Given the description of an element on the screen output the (x, y) to click on. 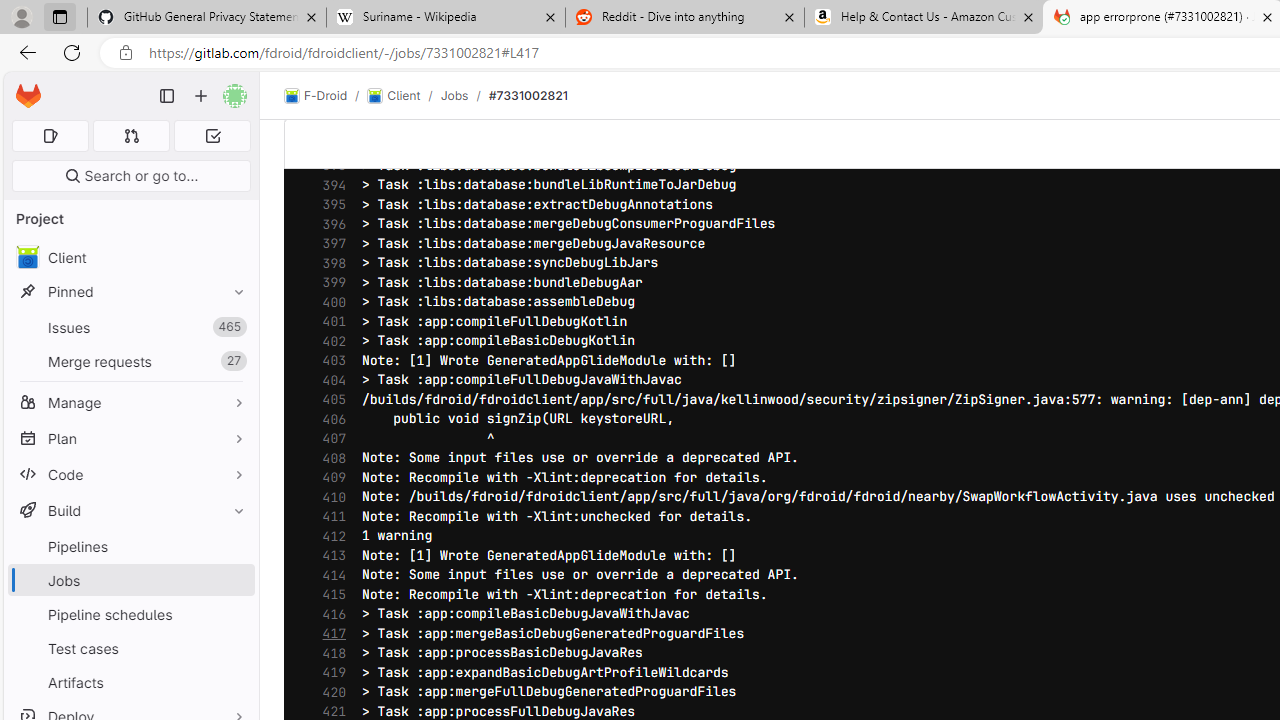
Pipelines (130, 546)
405 (329, 399)
Client (394, 96)
Pin Pipeline schedules (234, 614)
397 (329, 244)
Pipeline schedules (130, 614)
406 (329, 418)
417 (329, 633)
400 (329, 302)
401 (329, 321)
Jobs (130, 579)
Skip to main content (23, 87)
Manage (130, 402)
Code (130, 474)
